Given the description of an element on the screen output the (x, y) to click on. 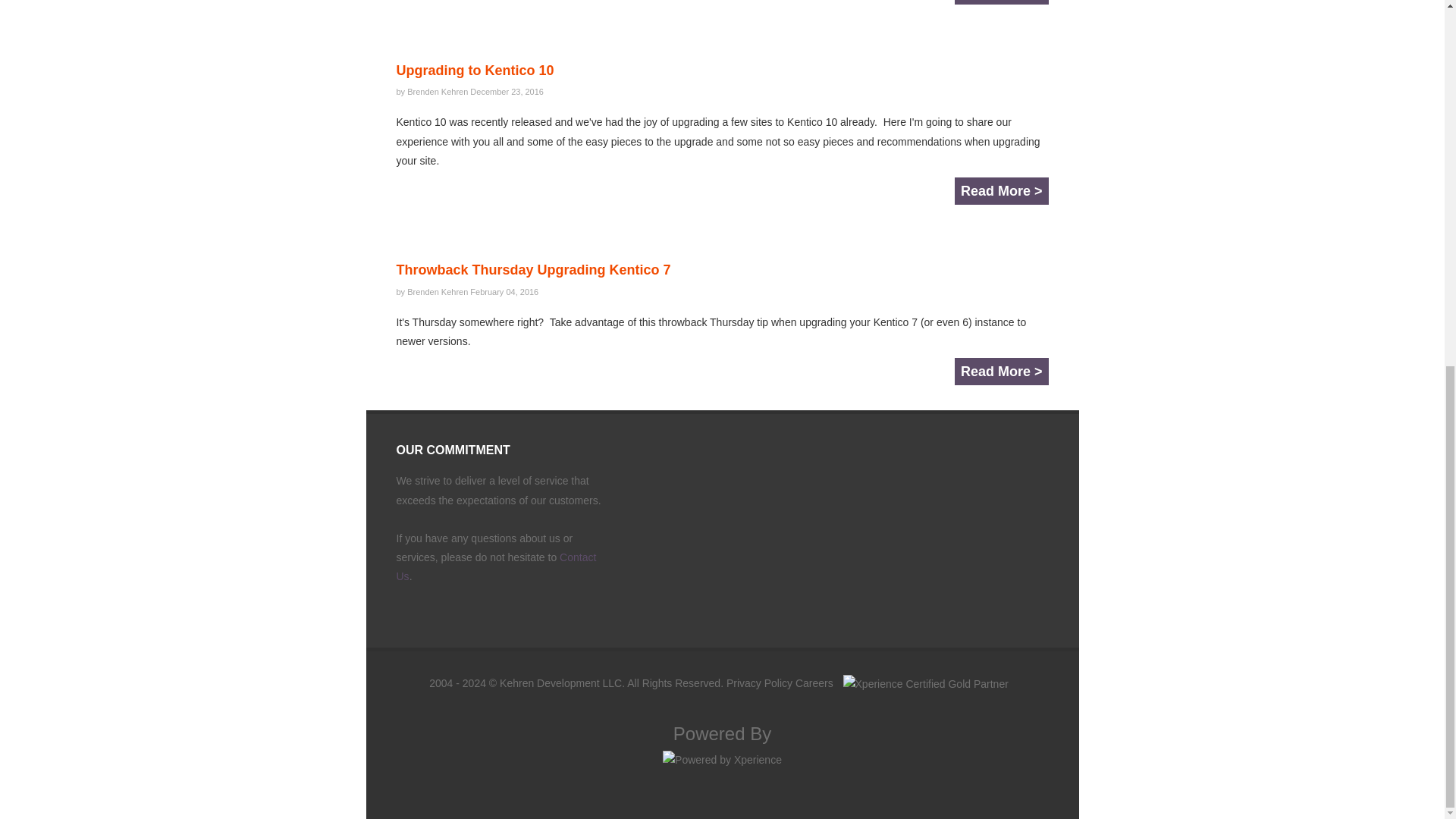
Kehren Development LLC (560, 683)
Throwback Thursday Upgrading Kentico 7 (532, 269)
Upgrading to Kentico 10 (474, 70)
Privacy Policy (759, 683)
Xperience (721, 759)
Careers (813, 683)
Contact Us (495, 566)
